Given the description of an element on the screen output the (x, y) to click on. 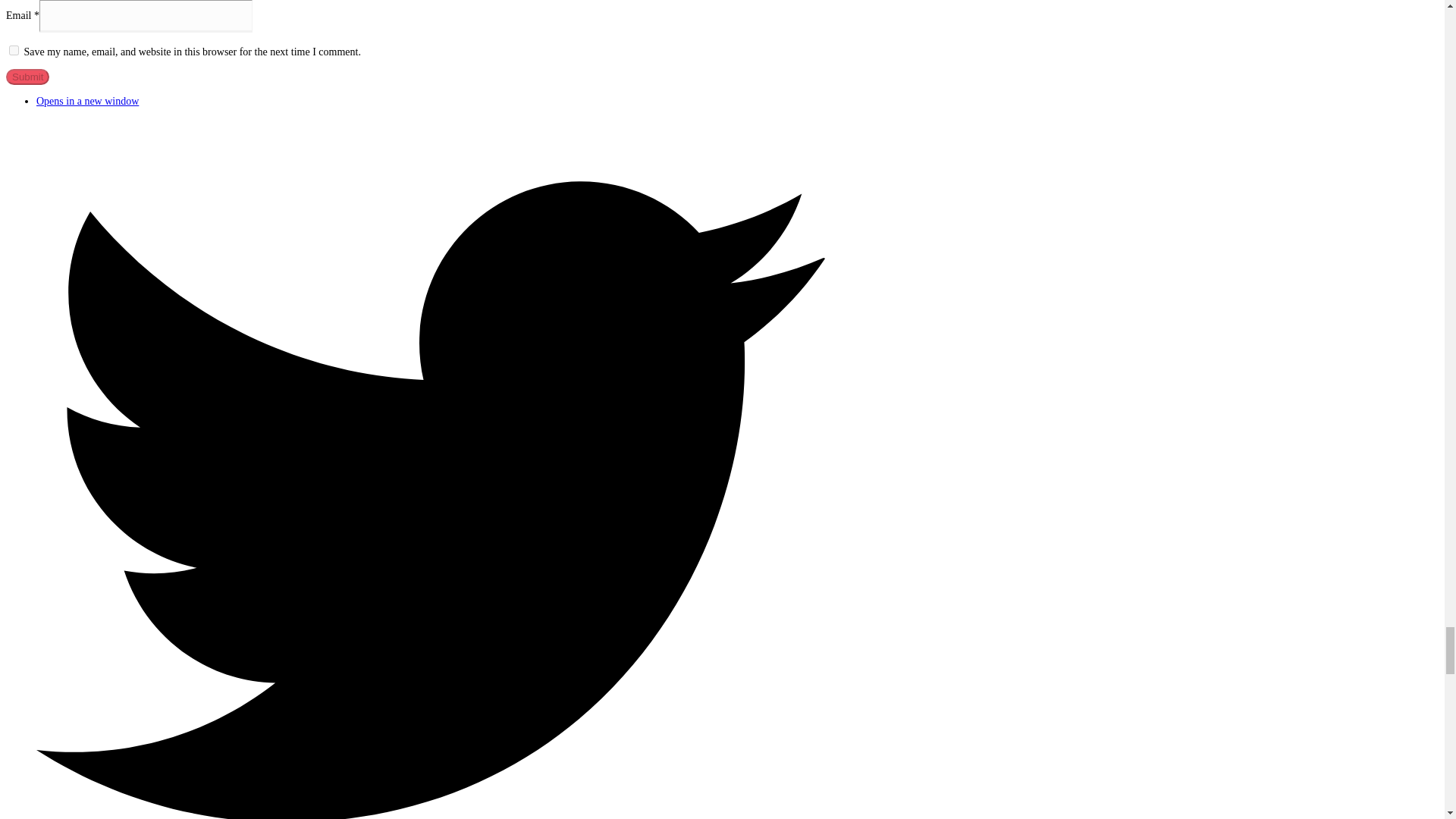
Submit (27, 76)
yes (27, 76)
